Given the description of an element on the screen output the (x, y) to click on. 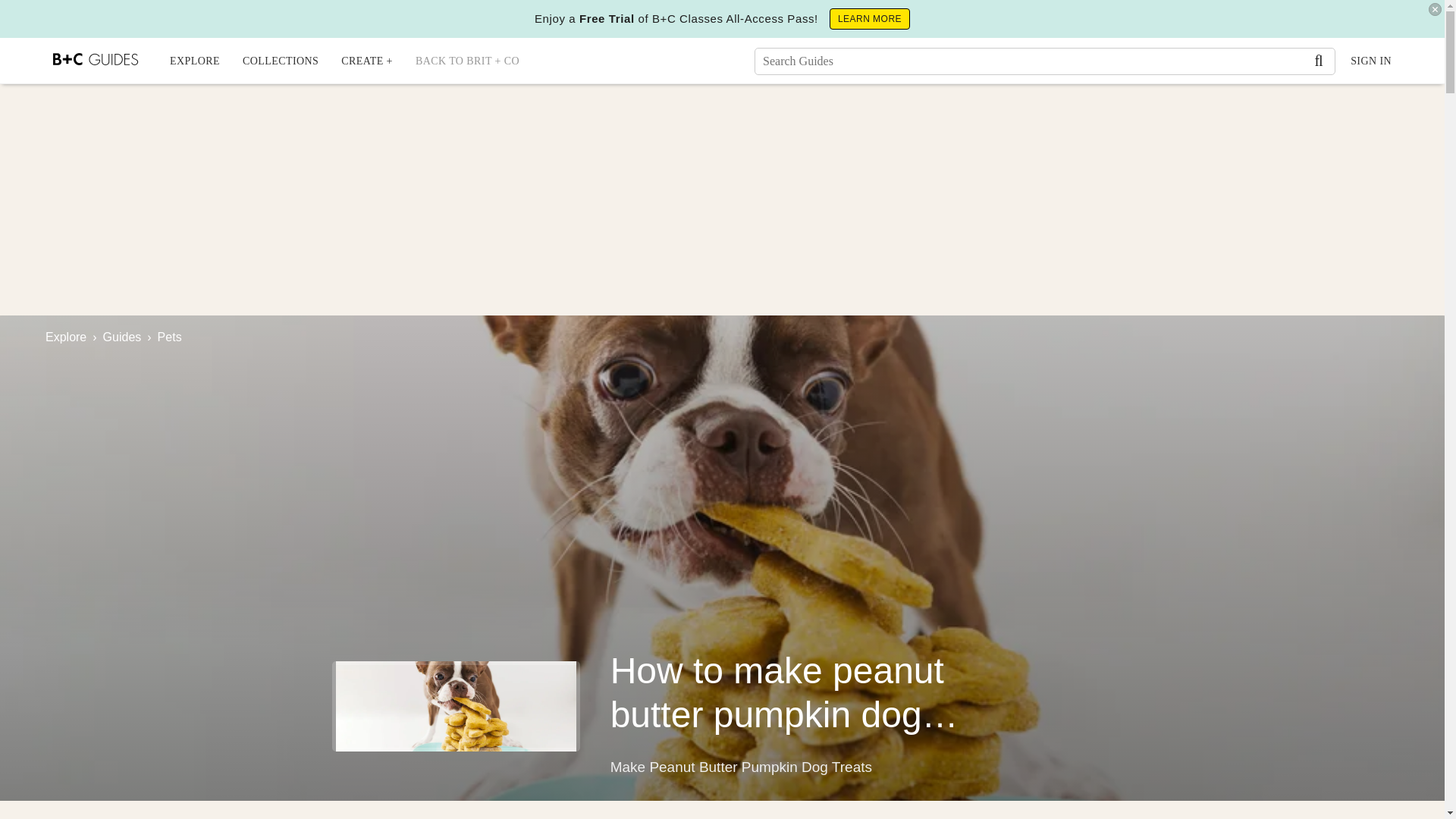
3rd party ad content (721, 193)
